Given the description of an element on the screen output the (x, y) to click on. 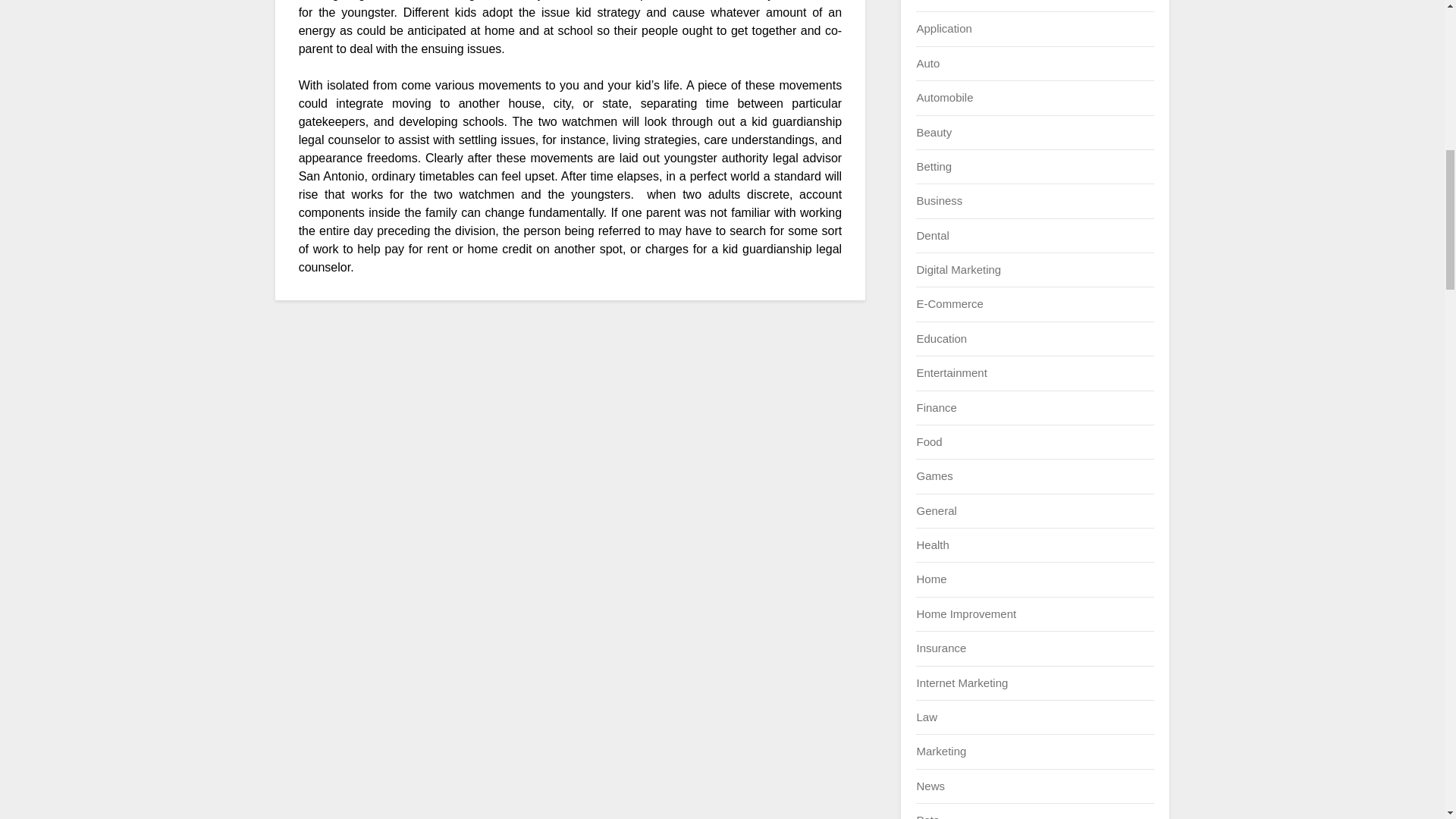
Betting (933, 165)
Home Improvement (965, 613)
Auto (927, 62)
Games (933, 475)
Digital Marketing (958, 269)
Education (940, 338)
Beauty (933, 132)
Insurance (940, 647)
Business (938, 200)
Food (928, 440)
Automobile (943, 97)
Health (932, 544)
General (935, 510)
Application (943, 28)
Internet Marketing (961, 682)
